Given the description of an element on the screen output the (x, y) to click on. 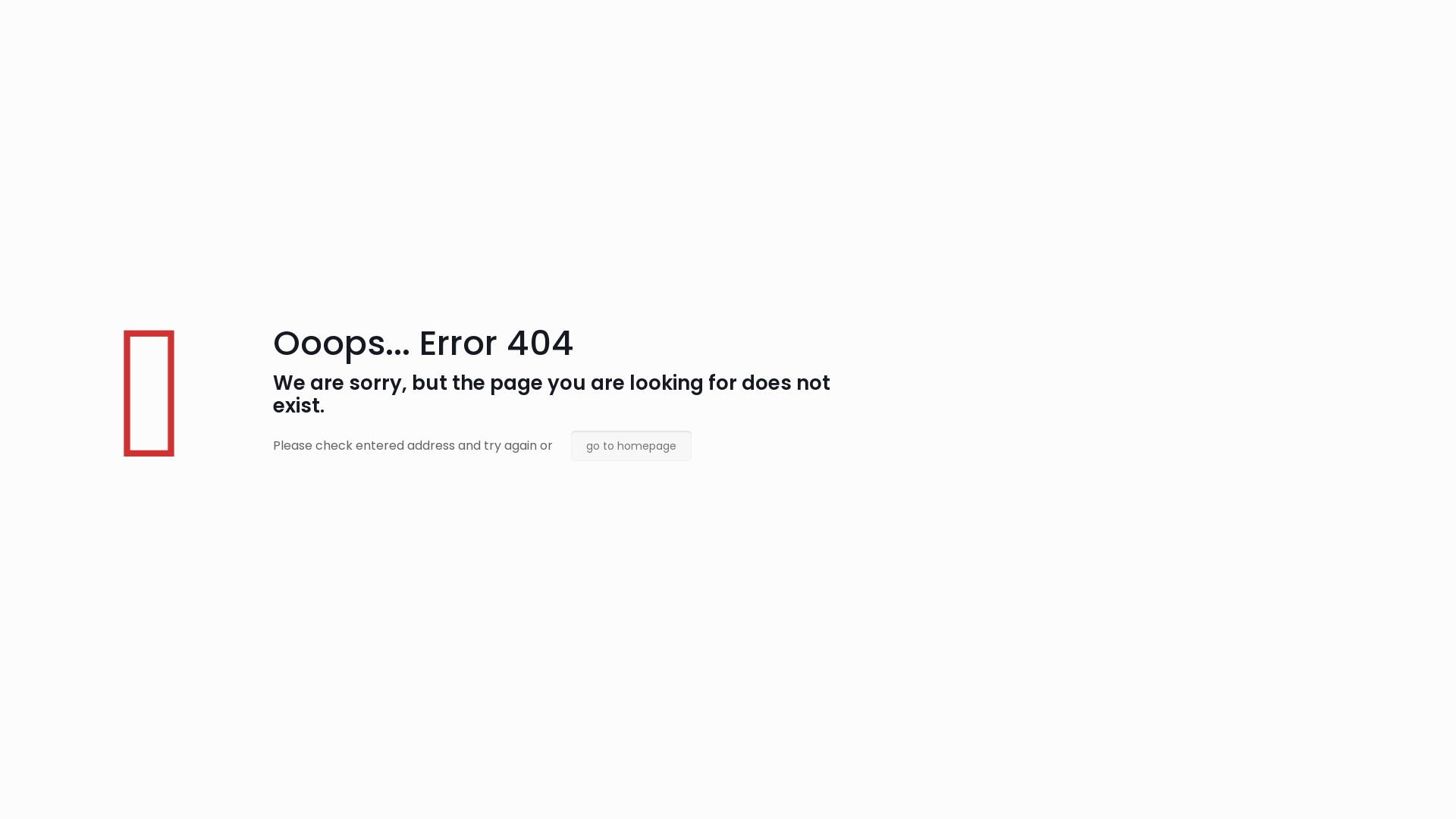
go to homepage Element type: text (631, 445)
